Given the description of an element on the screen output the (x, y) to click on. 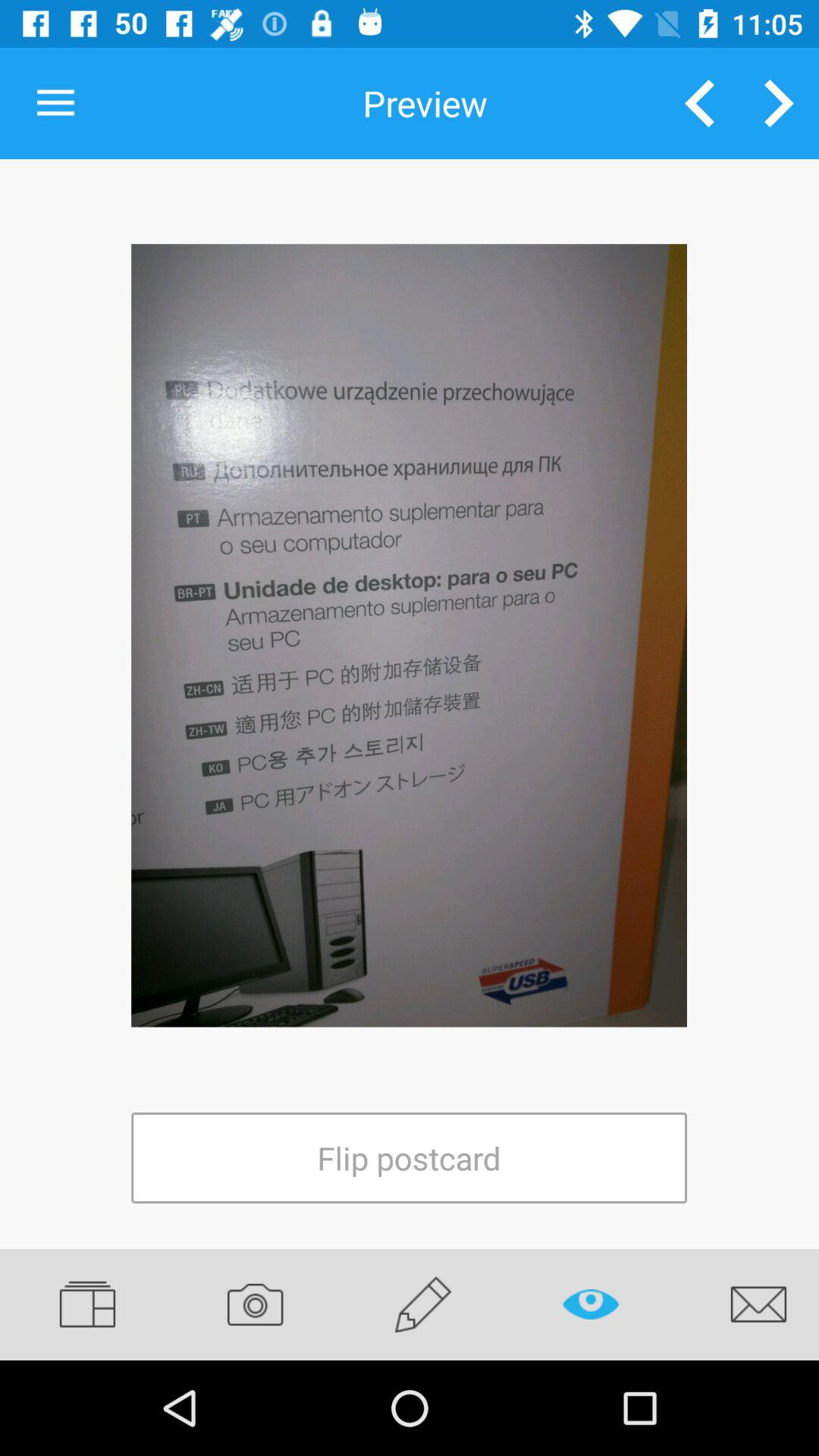
go back (699, 103)
